Given the description of an element on the screen output the (x, y) to click on. 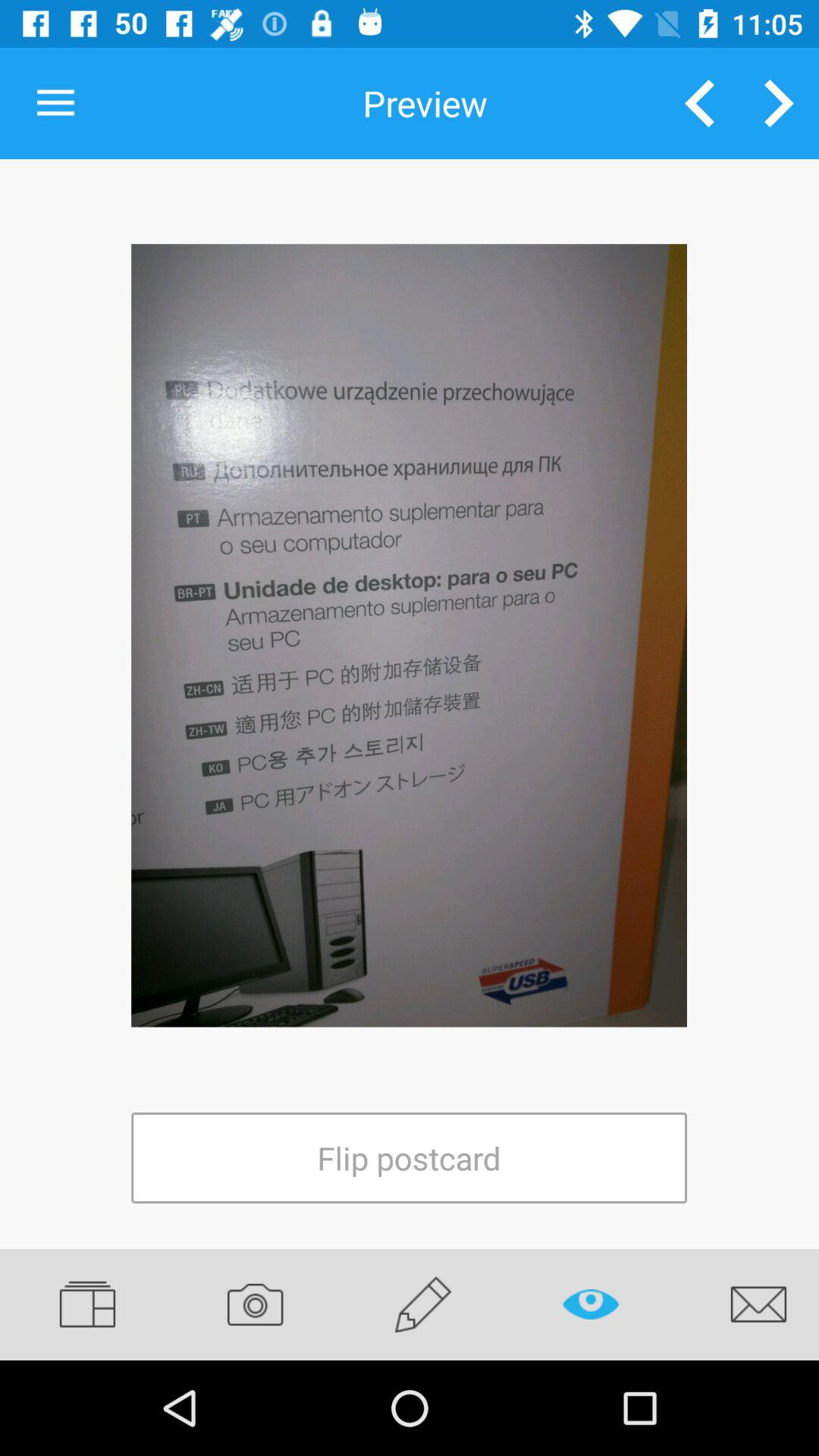
go back (699, 103)
